Given the description of an element on the screen output the (x, y) to click on. 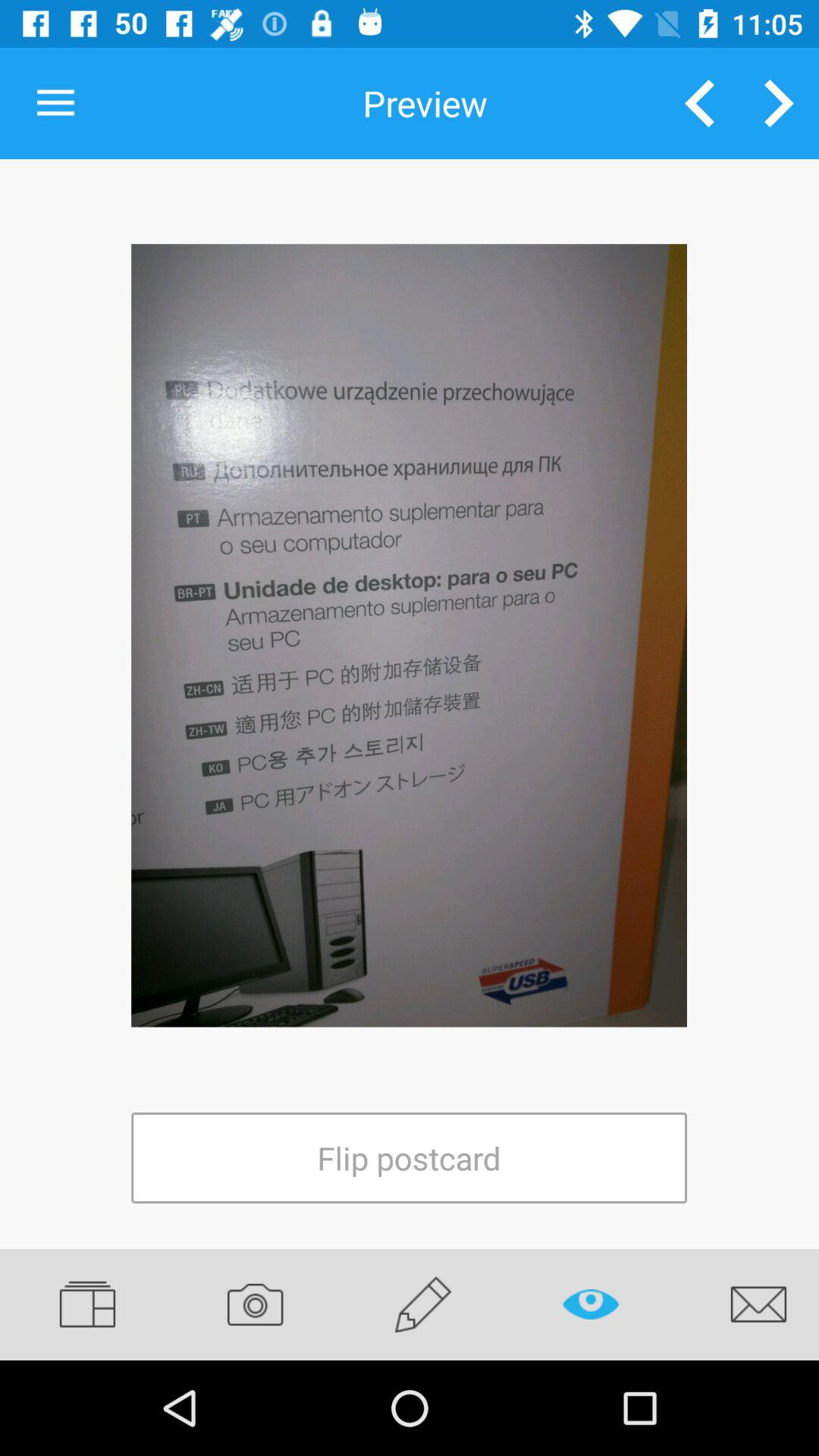
go back (699, 103)
